Given the description of an element on the screen output the (x, y) to click on. 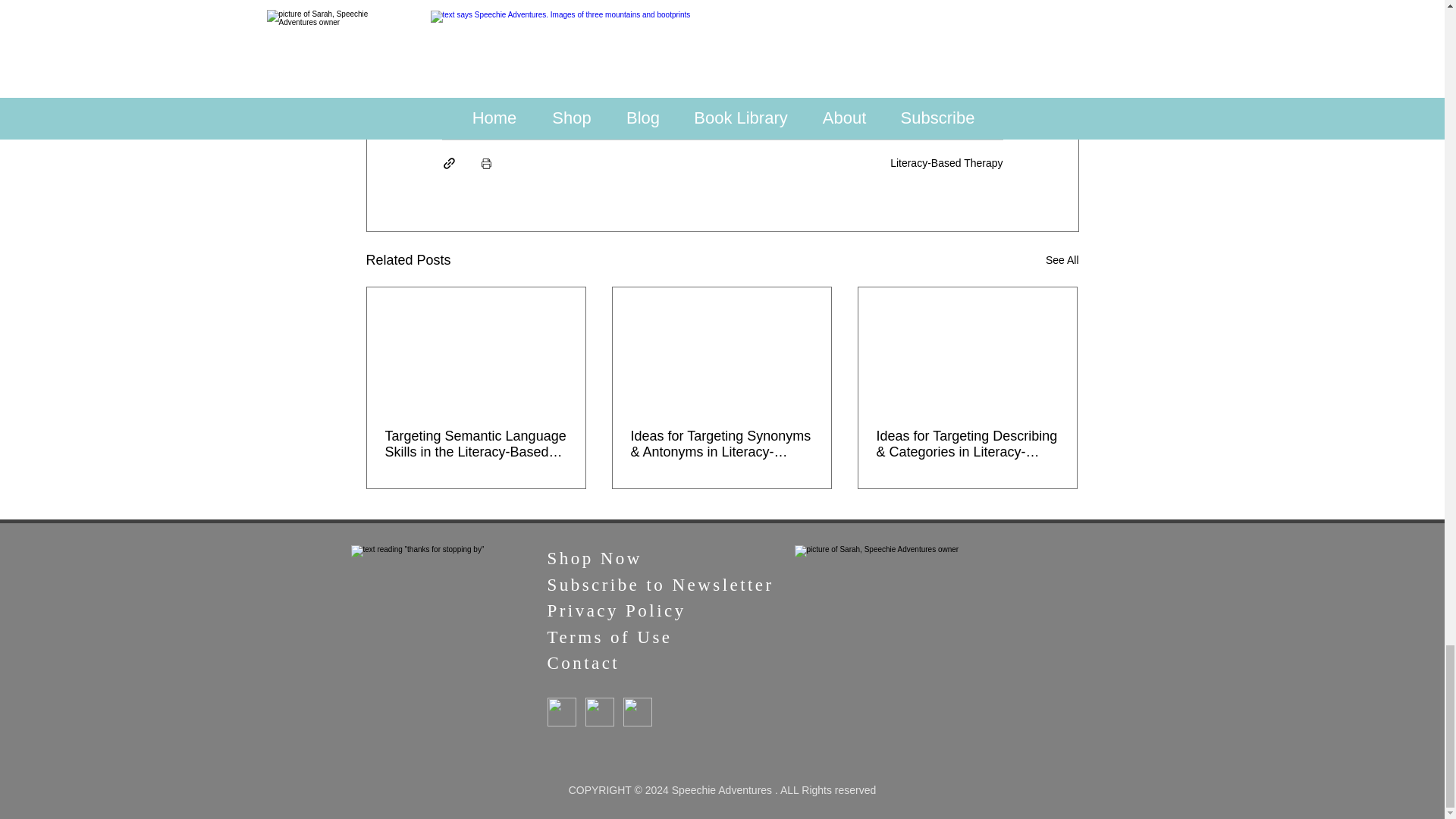
targeted activities (510, 102)
P-Badge-Mochimalist-White-000.png (637, 711)
Subscribe to Newsletter (660, 584)
Shop Now (594, 558)
vocabulary (726, 102)
See All (1061, 260)
Literacy-Based Therapy (946, 162)
Contact  (587, 662)
Terms of Use (609, 637)
Privacy Policy (616, 610)
semantics (628, 102)
